Given the description of an element on the screen output the (x, y) to click on. 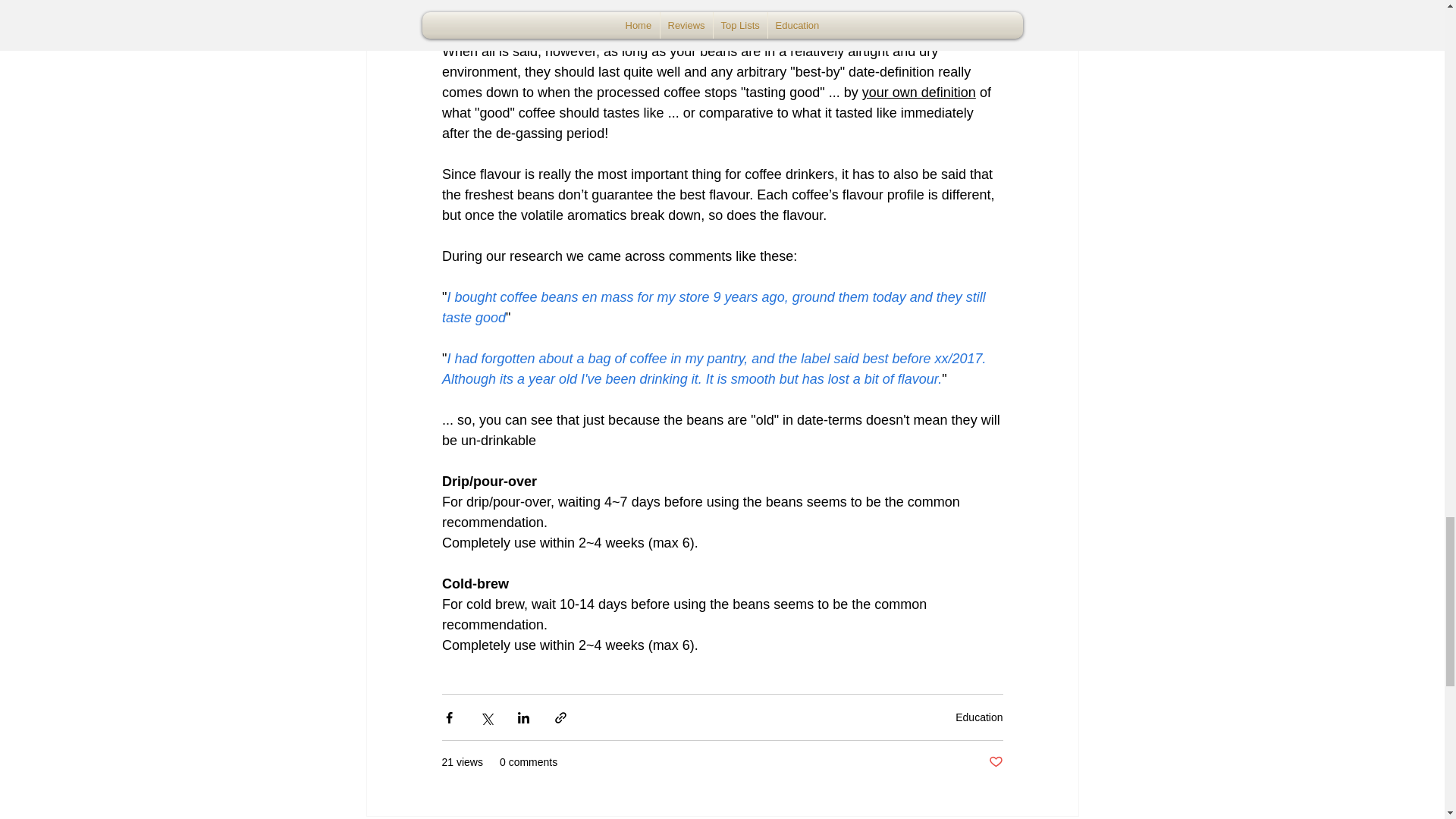
Post not marked as liked (995, 762)
Education (979, 717)
